Given the description of an element on the screen output the (x, y) to click on. 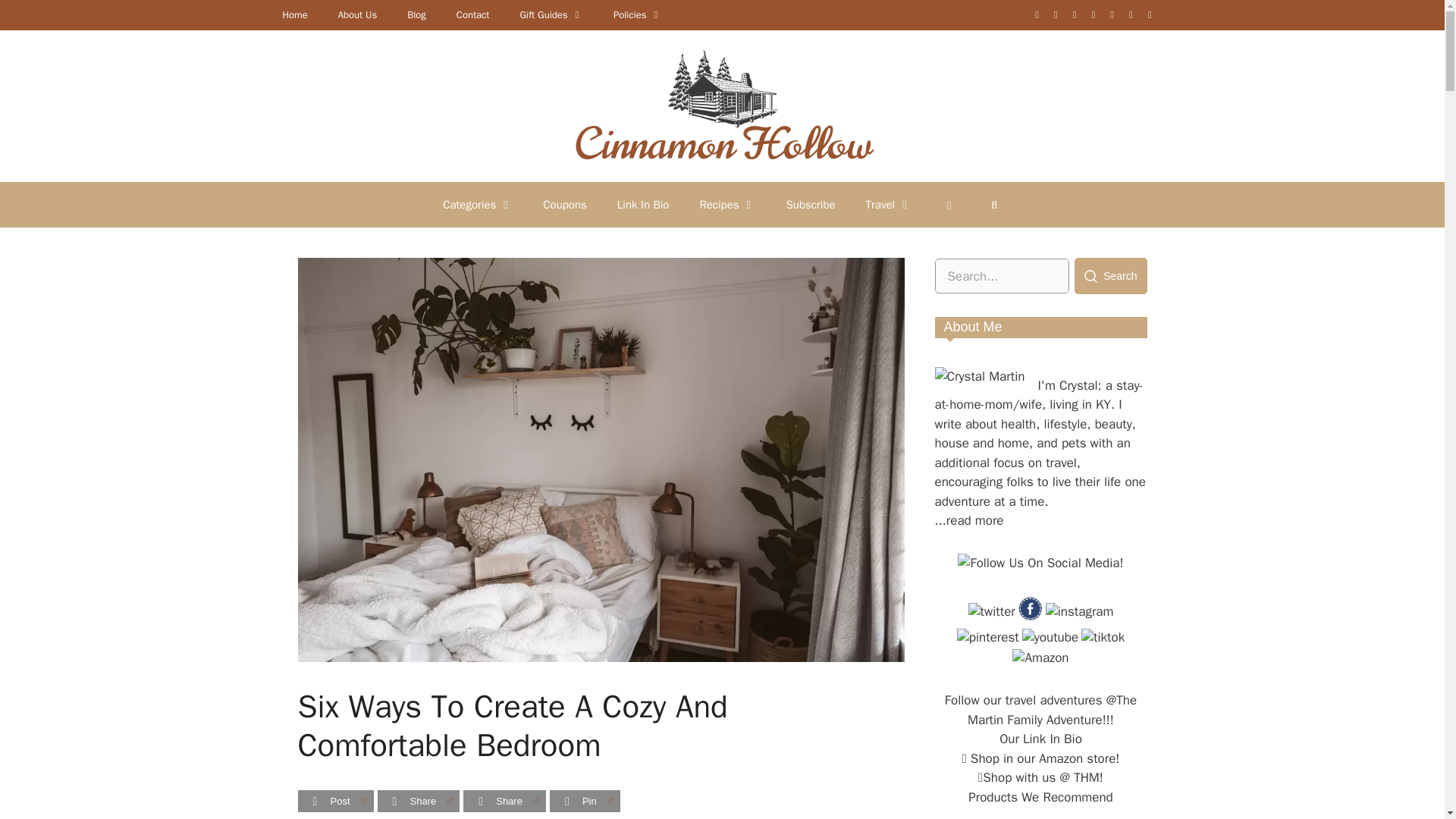
Contact (473, 15)
Policies (637, 15)
Recipes (727, 204)
Categories (477, 204)
Home (293, 15)
Gift Guides (549, 15)
Coupons (564, 204)
Blog (416, 15)
Link In Bio (643, 204)
About Us (357, 15)
Subscribe To Our Newsletter (810, 204)
